Given the description of an element on the screen output the (x, y) to click on. 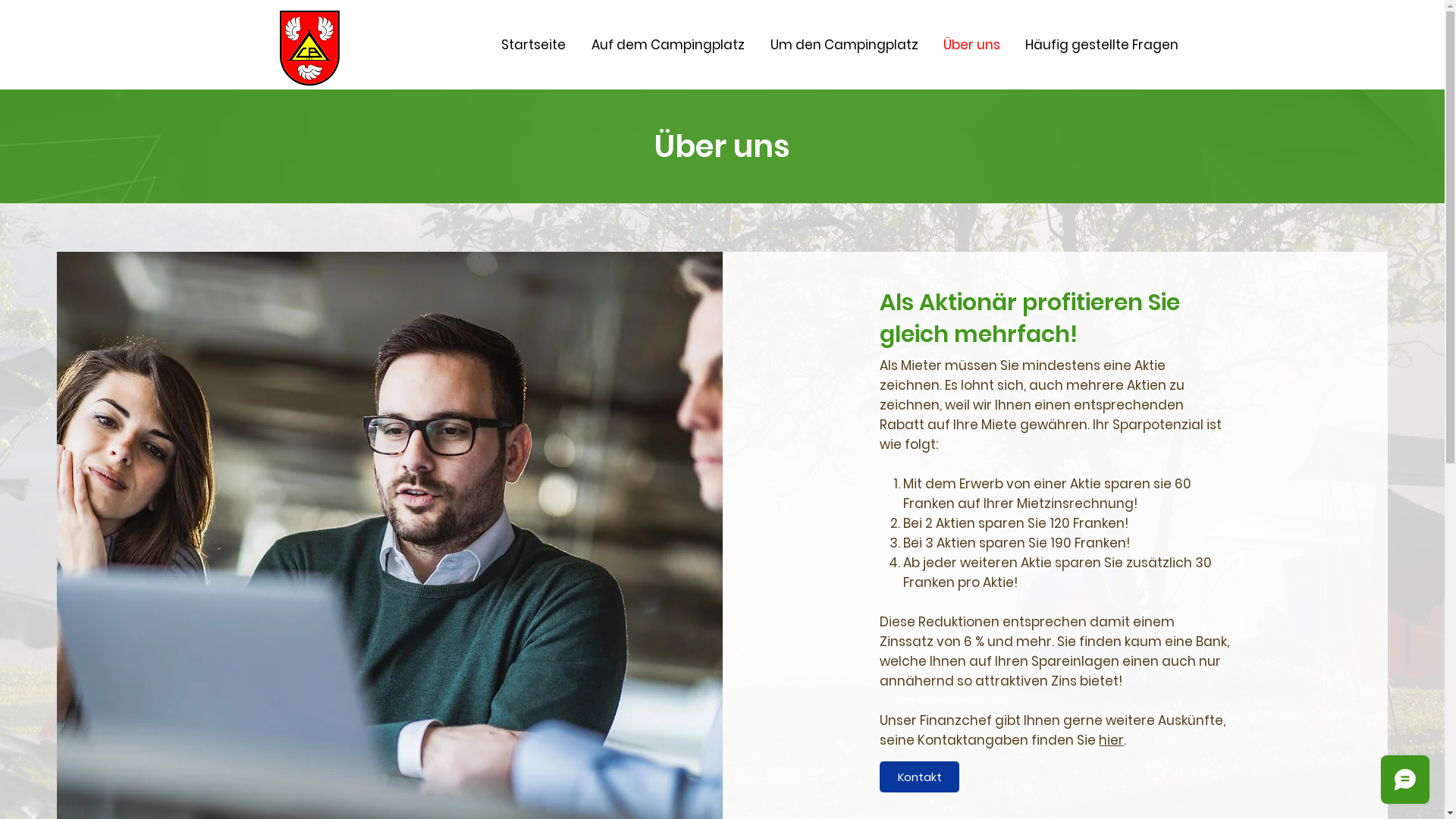
hier Element type: text (1110, 740)
Auf dem Campingplatz Element type: text (666, 44)
Um den Campingplatz Element type: text (843, 44)
Startseite Element type: text (533, 44)
Kontakt Element type: text (919, 776)
